Given the description of an element on the screen output the (x, y) to click on. 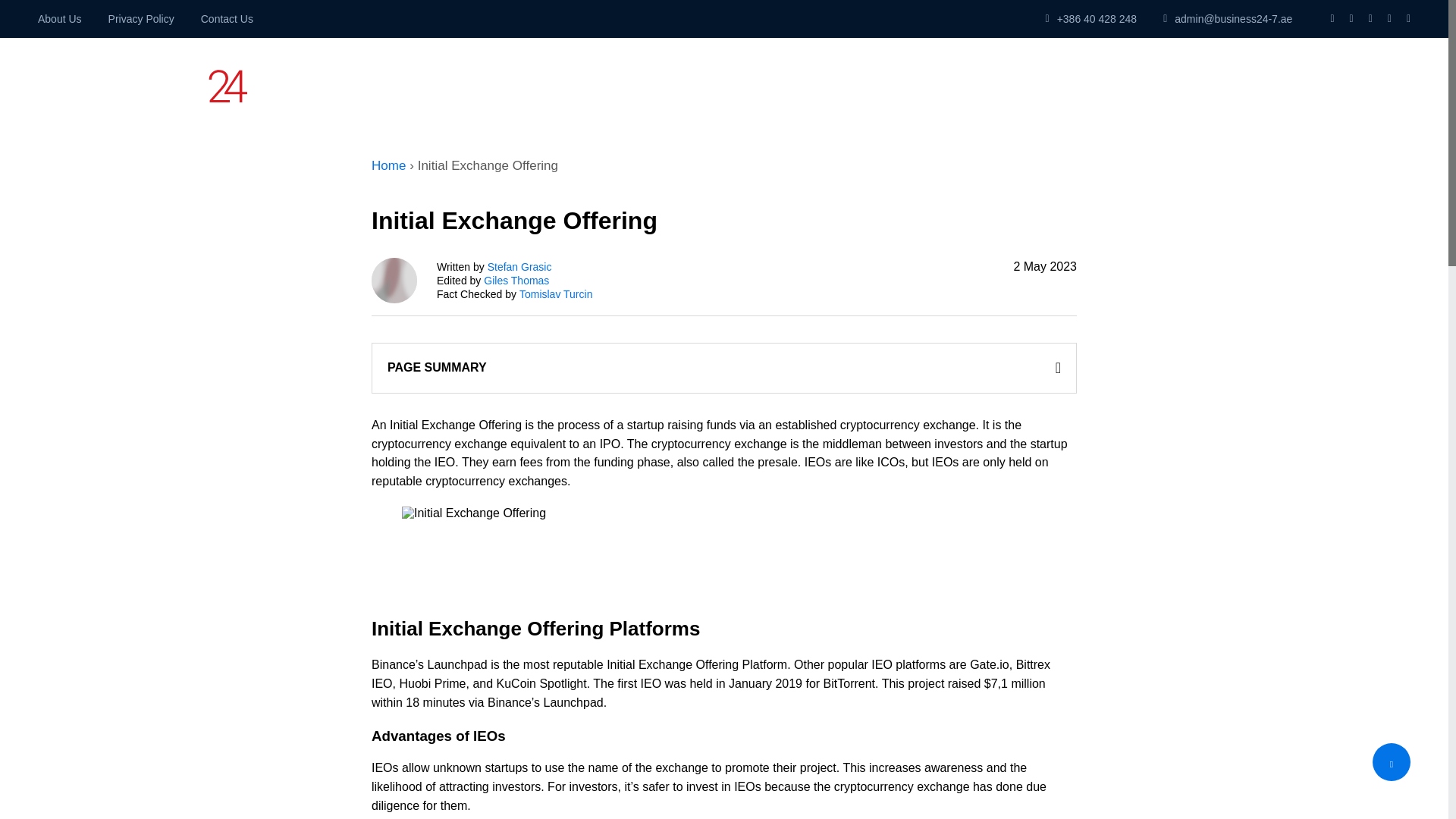
Compare (839, 84)
Written by  (1072, 85)
Fact Checked by  (519, 266)
Reviews (555, 294)
Help Me Find (941, 85)
Contact Us (713, 84)
Privacy Policy (226, 19)
About Us (140, 19)
Edited by  (59, 19)
